Given the description of an element on the screen output the (x, y) to click on. 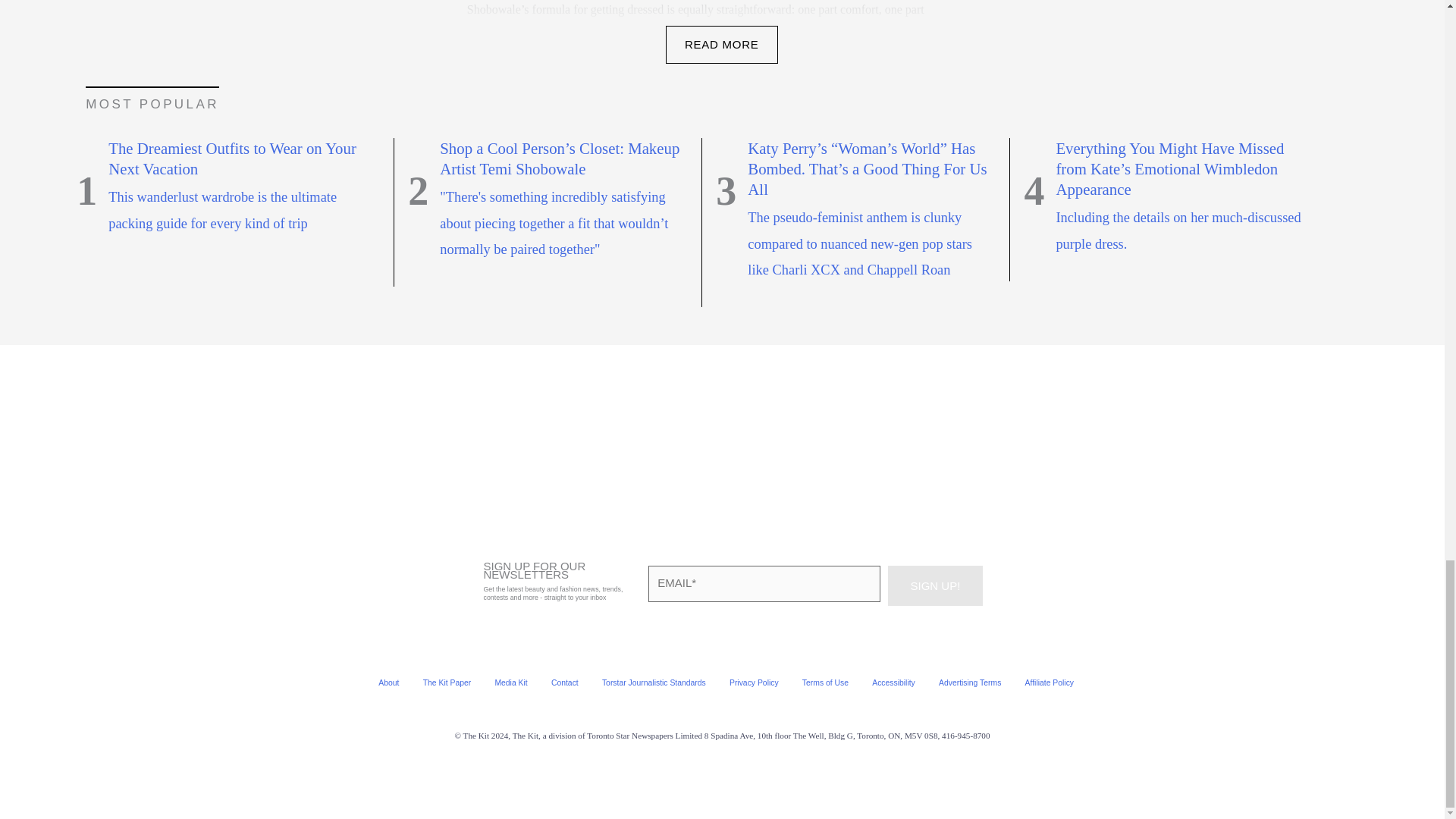
Sign Up! (934, 585)
